Given the description of an element on the screen output the (x, y) to click on. 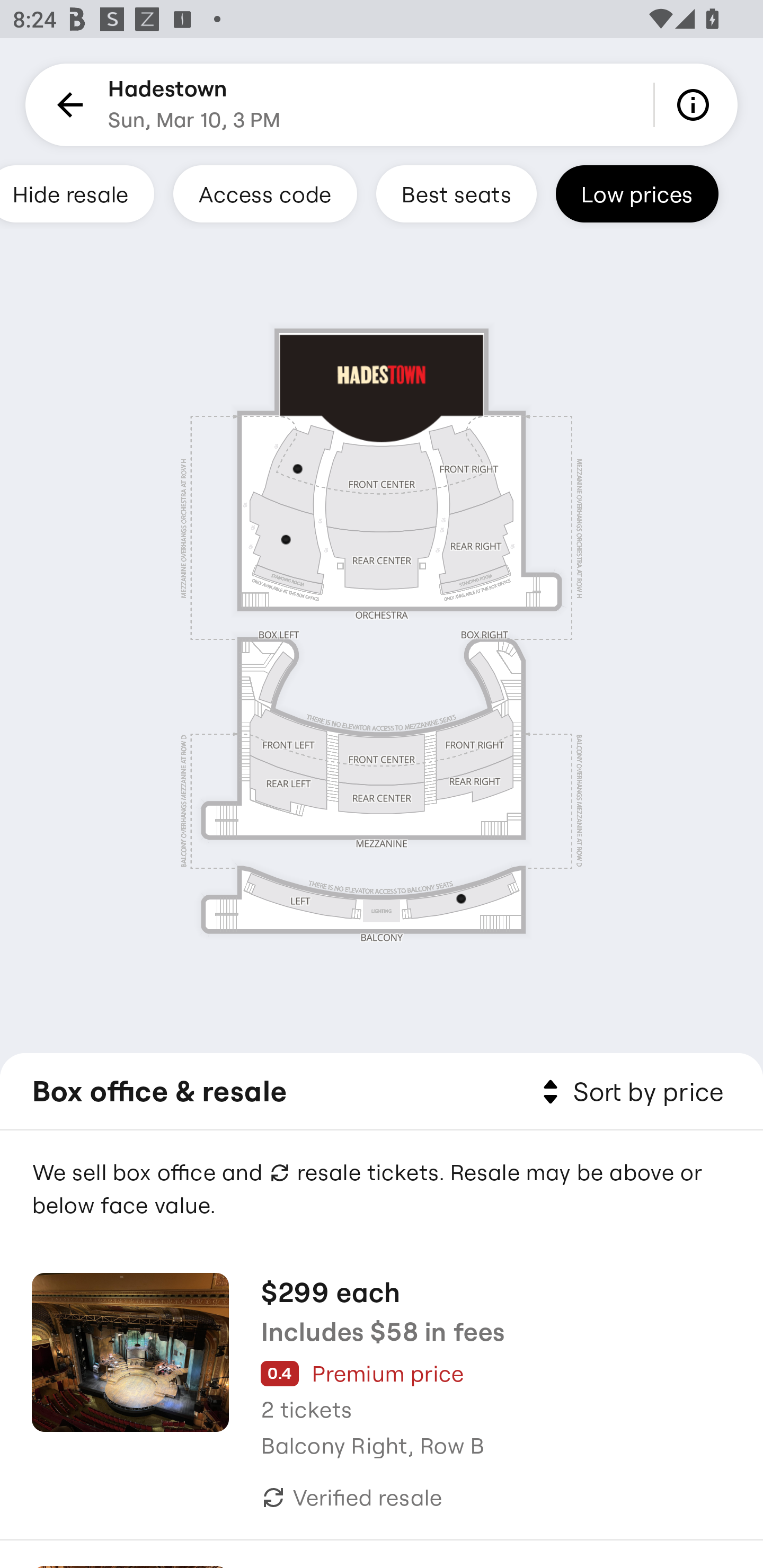
Back (66, 104)
Hadestown Sun, Mar 10, 3 PM (194, 104)
Info (695, 104)
Hide resale (77, 193)
Access code (265, 193)
Best seats (456, 193)
Low prices (636, 193)
Sort by price (629, 1091)
